Given the description of an element on the screen output the (x, y) to click on. 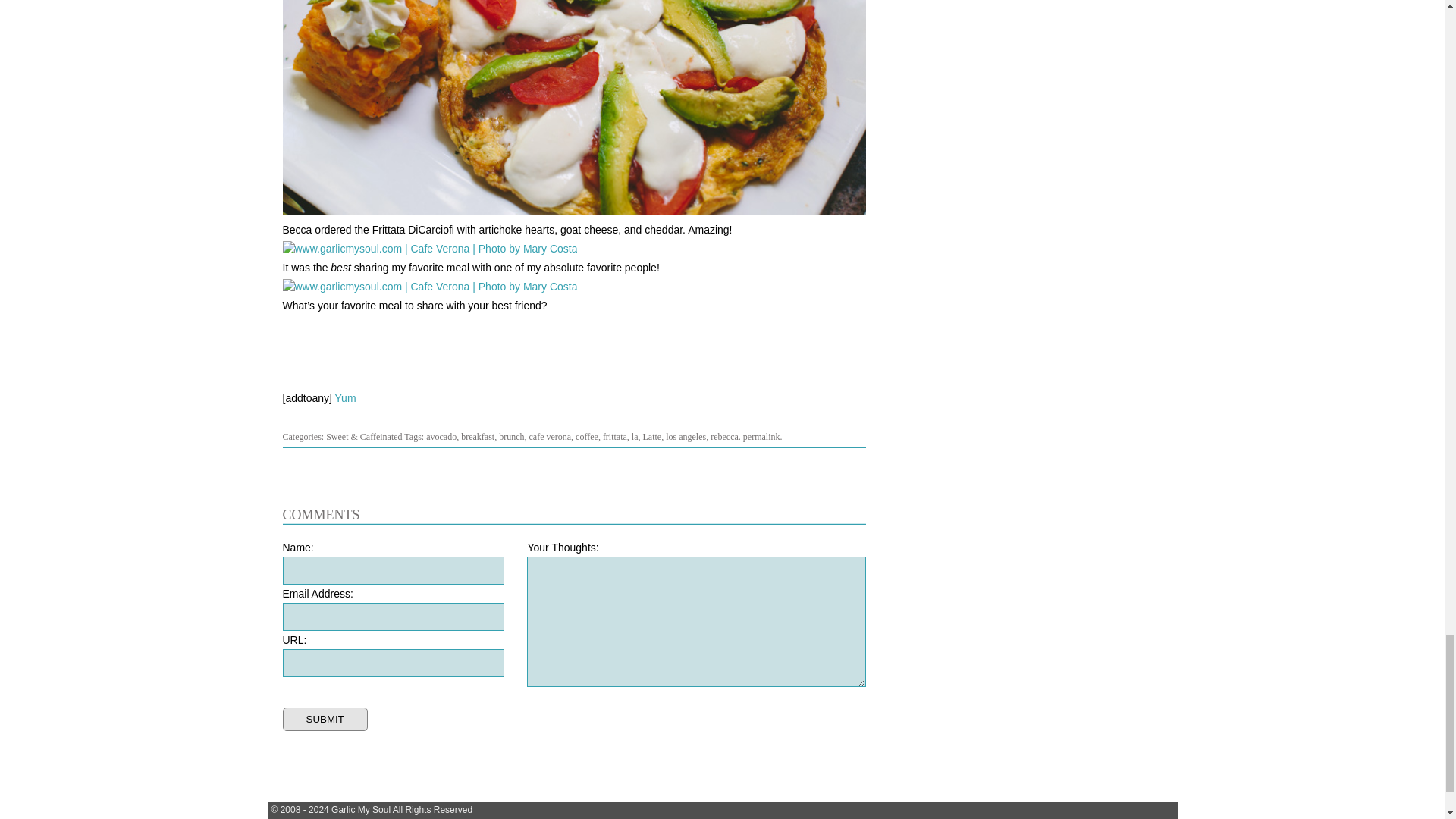
SUBMIT (324, 719)
avocado (441, 436)
frittata (614, 436)
coffee (586, 436)
Yum (345, 398)
breakfast (478, 436)
Latte (652, 436)
cafe verona (549, 436)
la (635, 436)
los angeles (685, 436)
brunch (511, 436)
